Given the description of an element on the screen output the (x, y) to click on. 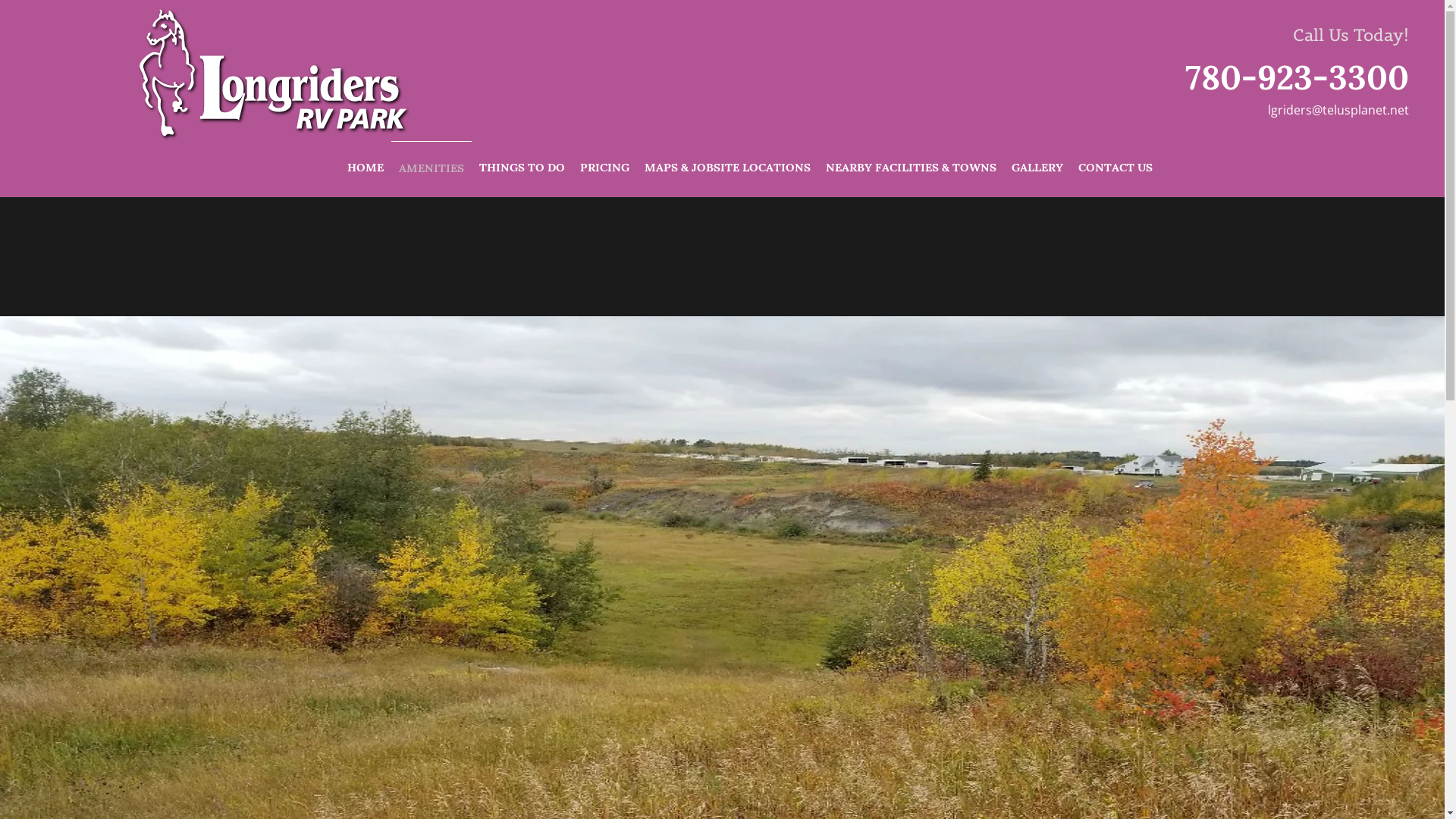
HOME Element type: text (365, 166)
Embedded Content Element type: hover (1193, 36)
NEARBY FACILITIES & TOWNS Element type: text (910, 166)
PRICING Element type: text (603, 166)
THINGS TO DO Element type: text (521, 166)
GALLERY Element type: text (1037, 166)
AMENITIES Element type: text (431, 166)
780-923-3300 Element type: text (1296, 73)
lgriders@telusplanet.net Element type: text (1337, 109)
MAPS & JOBSITE LOCATIONS Element type: text (727, 166)
CONTACT US Element type: text (1115, 166)
